Given the description of an element on the screen output the (x, y) to click on. 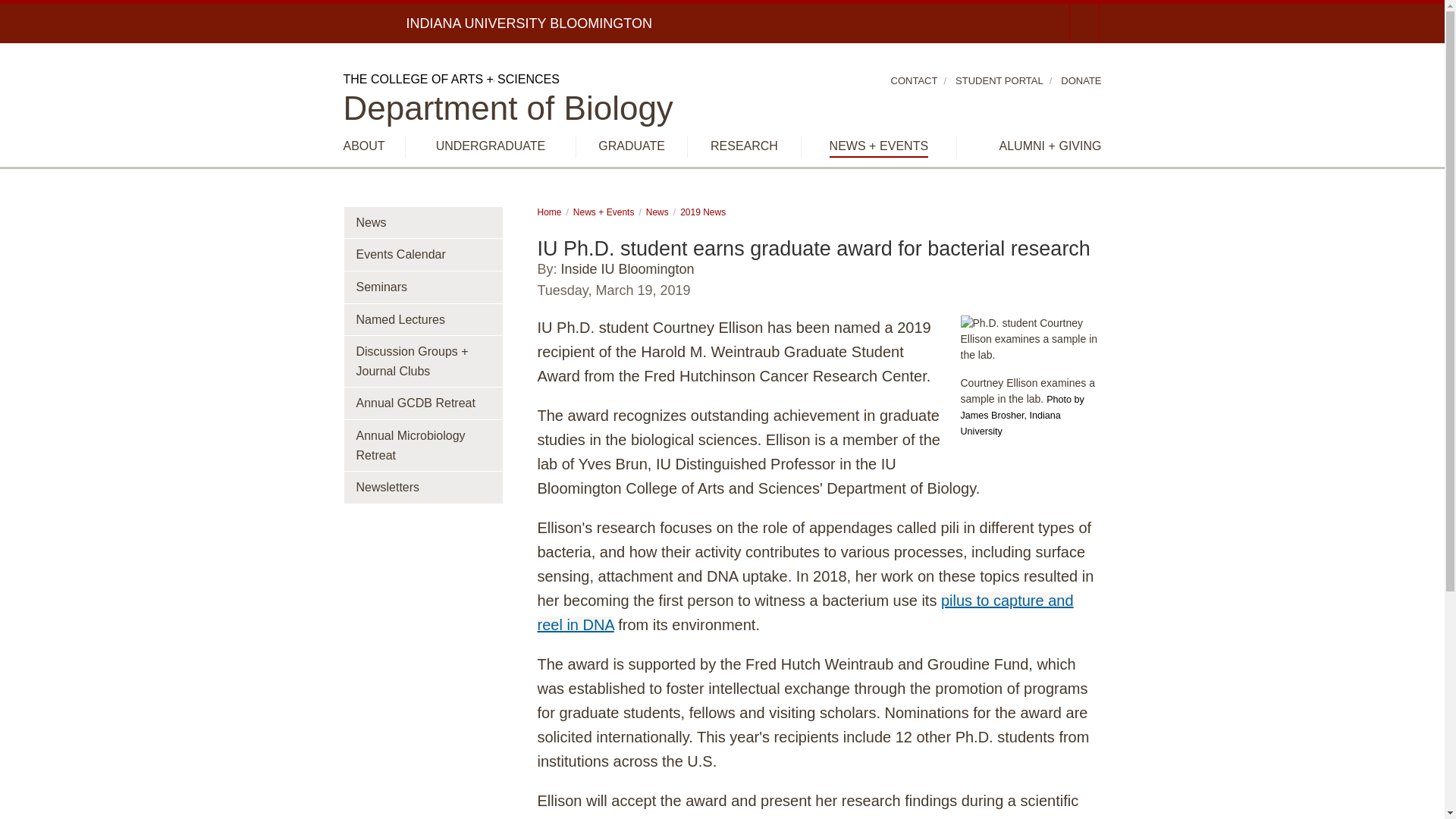
Department of Biology (507, 107)
UNDERGRADUATE (490, 146)
GRADUATE (631, 146)
ABOUT (363, 146)
INDIANA UNIVERSITY BLOOMINGTON (529, 23)
Indiana University Bloomington (529, 23)
